Given the description of an element on the screen output the (x, y) to click on. 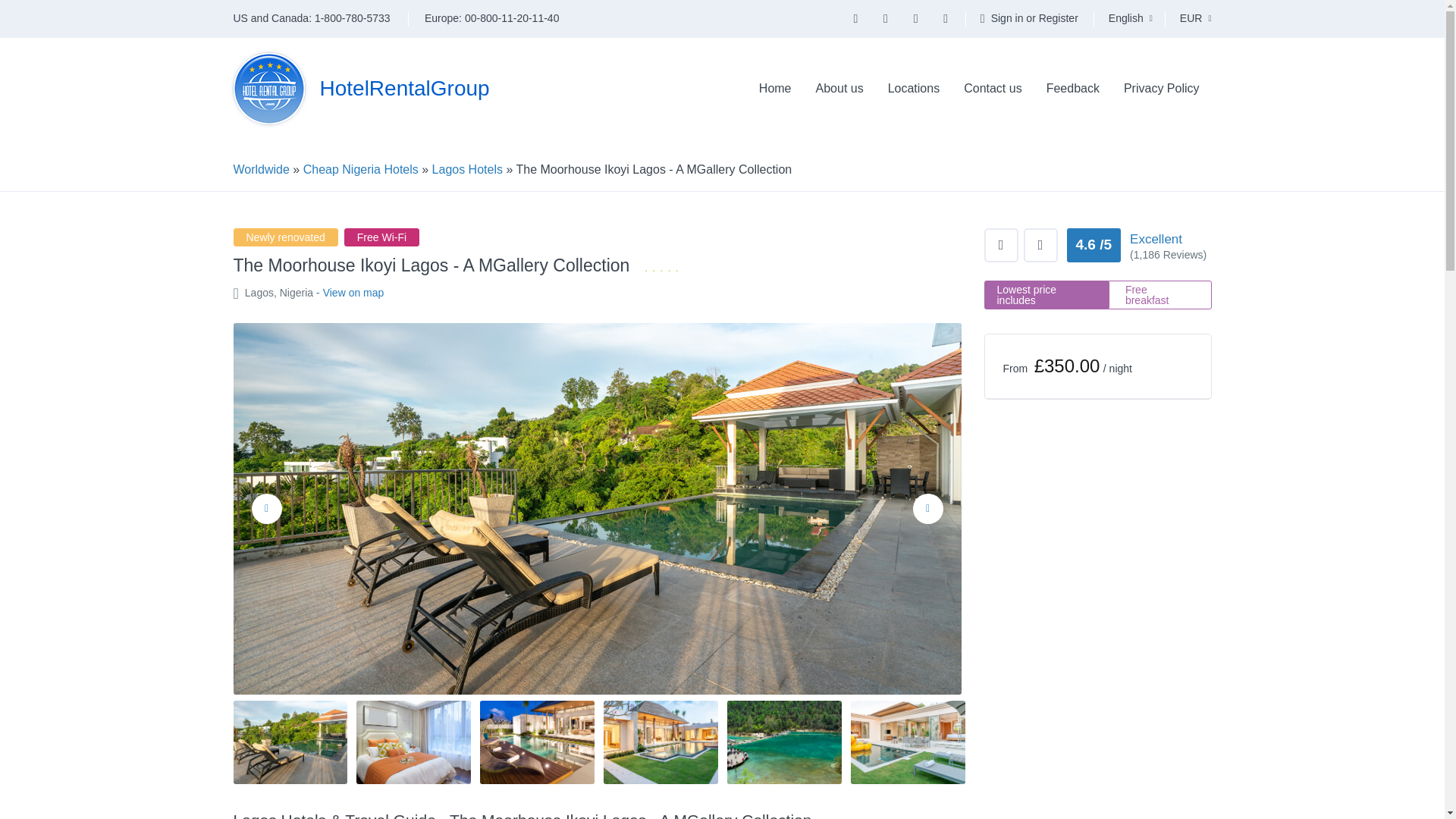
Feedback (1072, 88)
HotelRentalGroup (360, 88)
- View on map (349, 293)
Lagos Hotels (467, 169)
Privacy Policy (1161, 88)
Sign in or Register (1028, 18)
Europe: 00-800-11-20-11-40 (491, 18)
Contact us (992, 88)
English (1130, 18)
Cheap Nigeria Hotels (360, 169)
Worldwide (260, 169)
US and Canada: 1-800-780-5733 (319, 18)
EUR (1195, 18)
About us (839, 88)
Locations (914, 88)
